Given the description of an element on the screen output the (x, y) to click on. 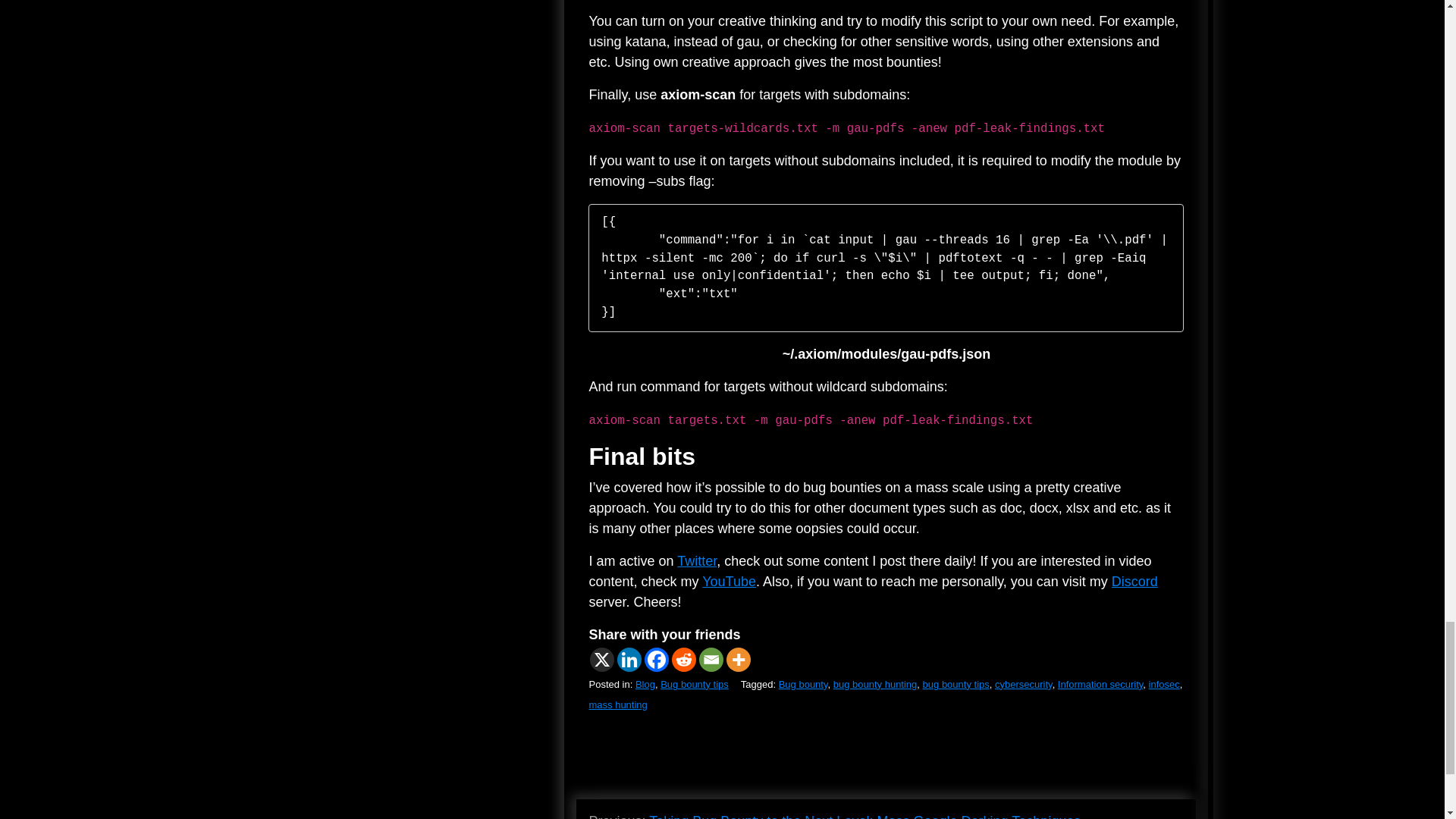
YouTube (728, 581)
Twitter (696, 560)
More (738, 659)
Discord (1134, 581)
Linkedin (629, 659)
X (601, 659)
Blog (644, 684)
Email (710, 659)
Facebook (656, 659)
Reddit (683, 659)
